Given the description of an element on the screen output the (x, y) to click on. 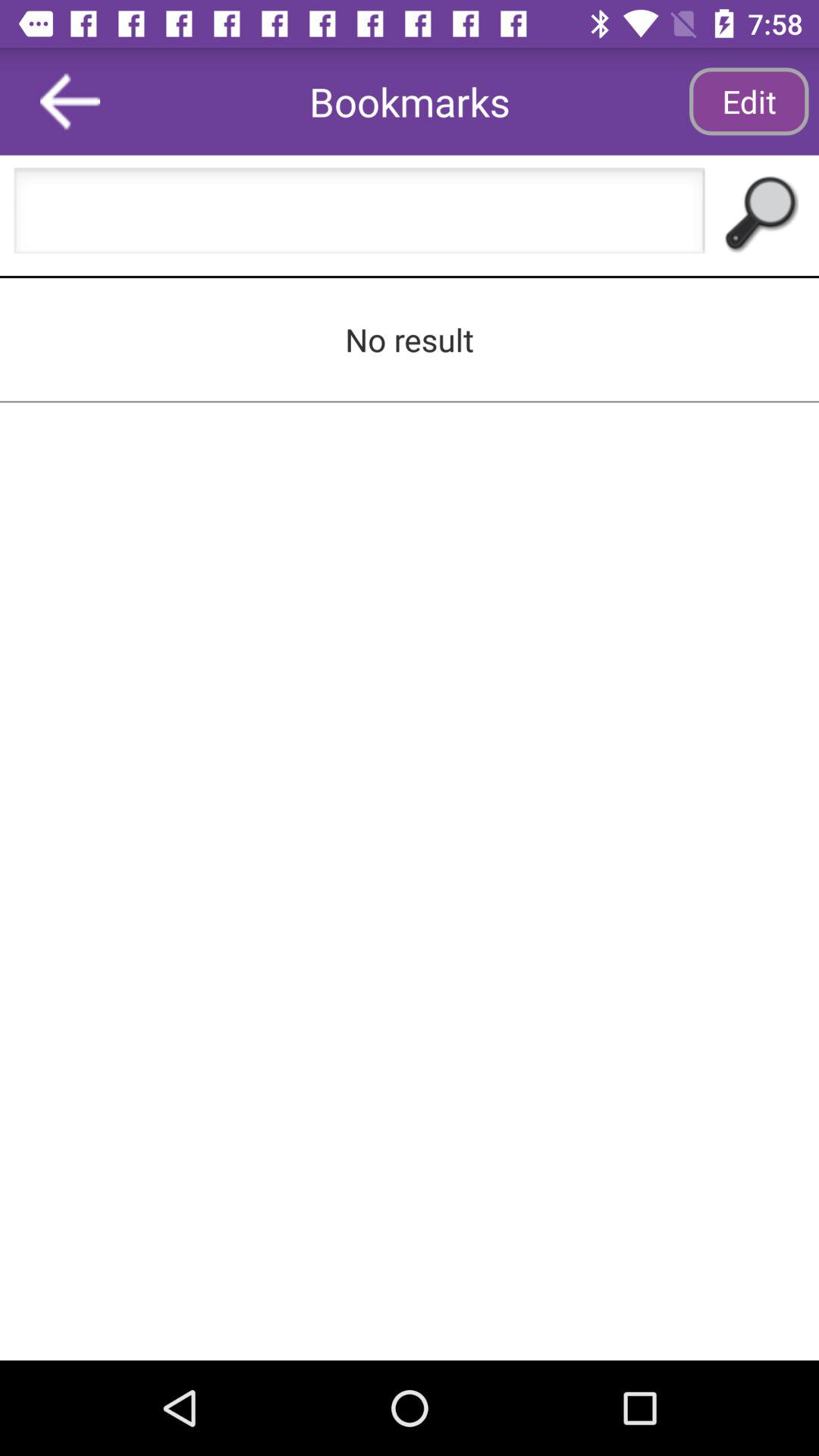
open icon next to the bookmarks item (69, 101)
